Given the description of an element on the screen output the (x, y) to click on. 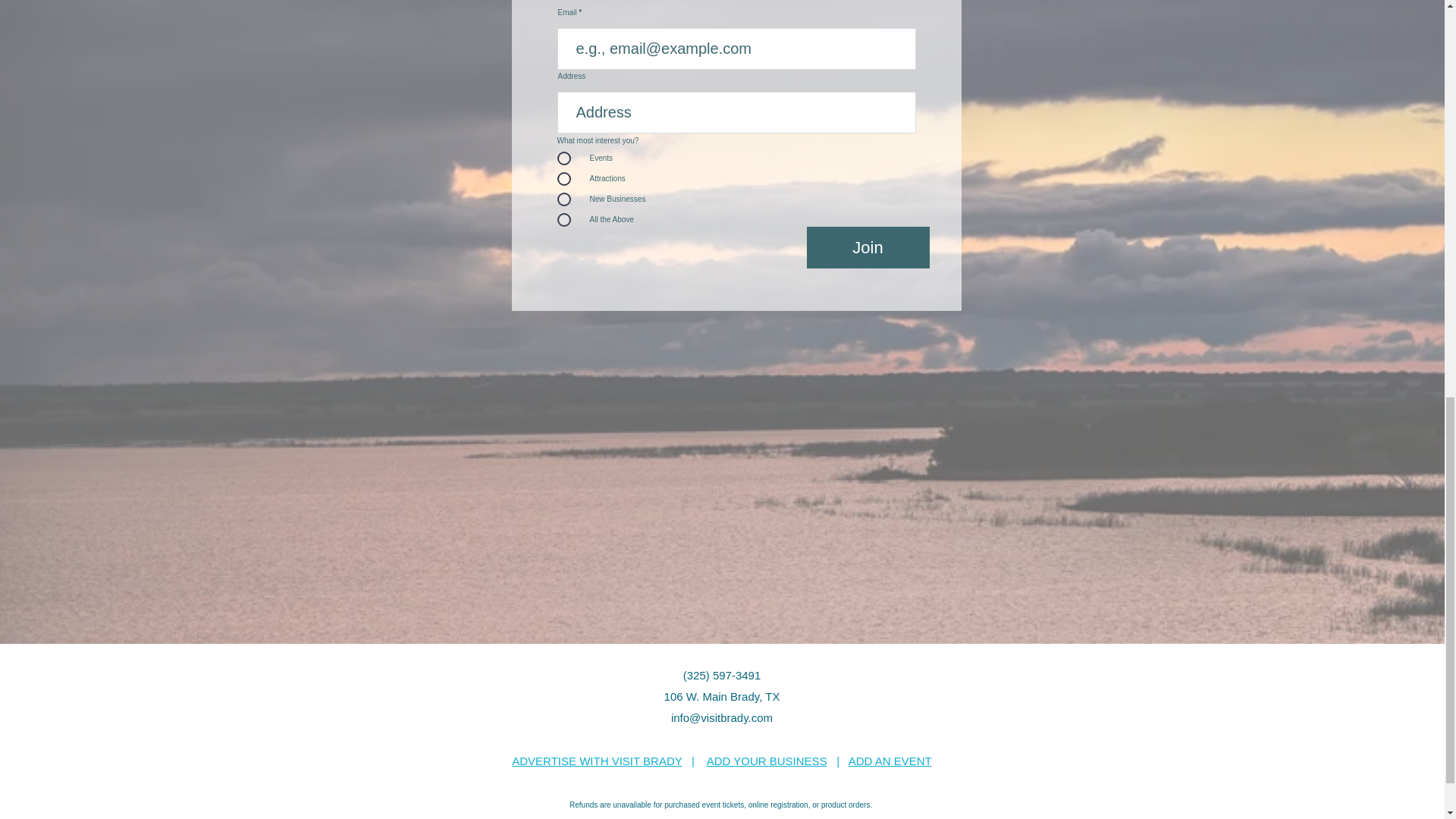
Join (868, 247)
ADD AN EVENT (889, 760)
ADD YOUR BUSINESS (766, 760)
ADVERTISE WITH VISIT BRADY (596, 760)
